Given the description of an element on the screen output the (x, y) to click on. 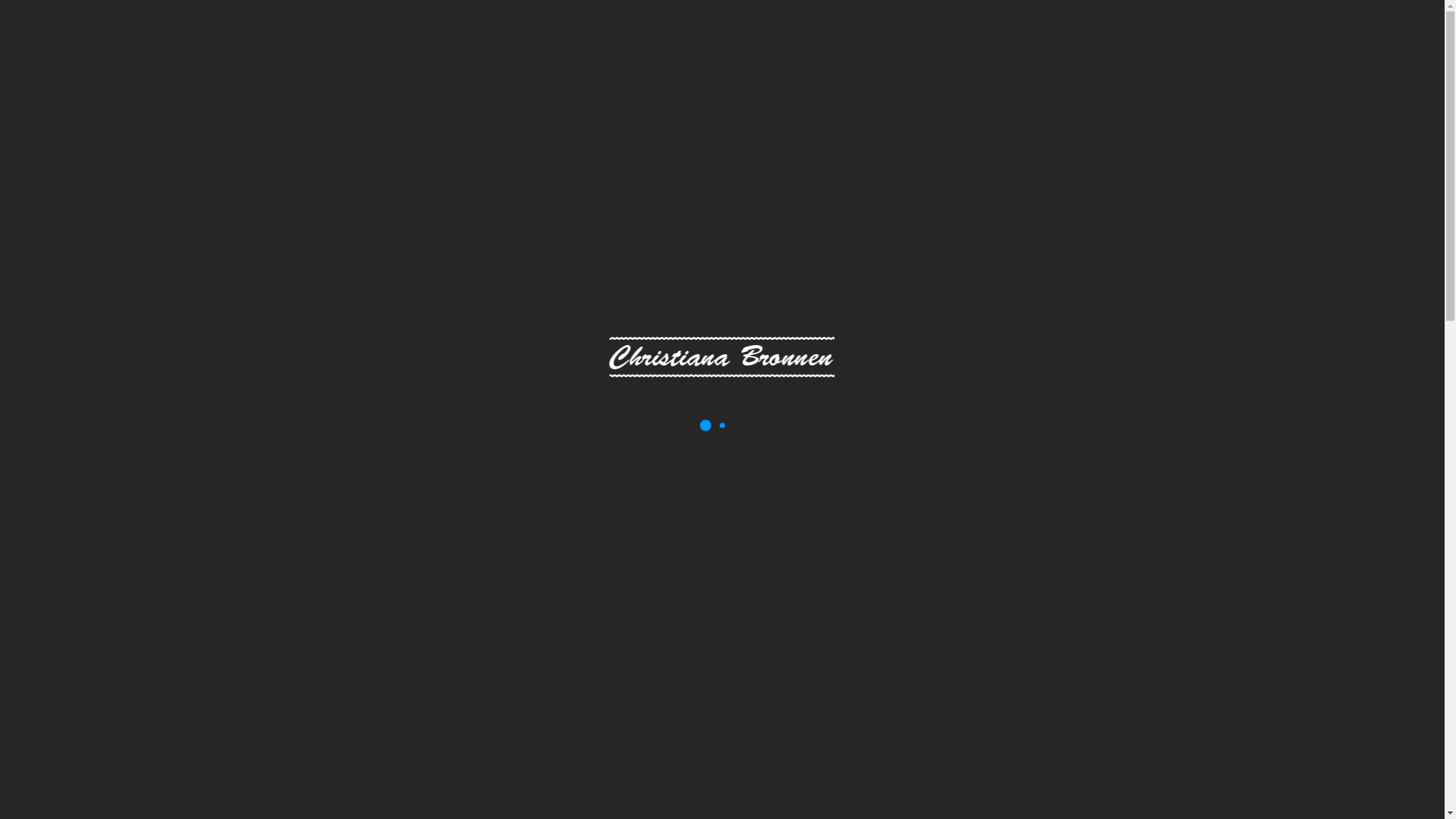
HOME Element type: text (789, 52)
CONTACT Element type: text (1283, 52)
Home Element type: text (675, 174)
GAMMA Element type: text (858, 52)
PRIVATE LABEL / YOUR BRAND Element type: text (1008, 52)
ONS VERHAAL Element type: text (1180, 52)
PARTNERS Element type: text (1374, 52)
